Given the description of an element on the screen output the (x, y) to click on. 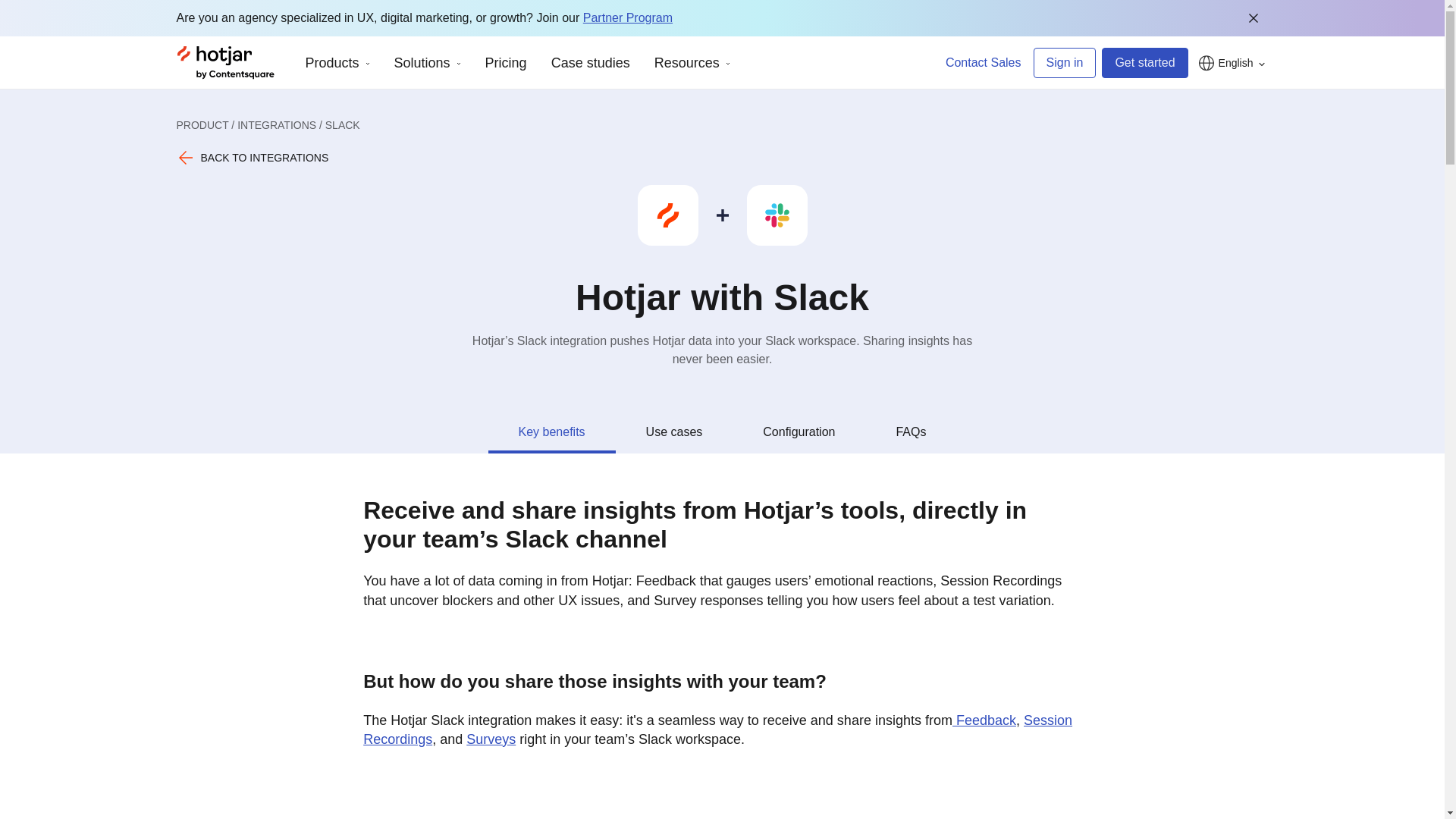
Pricing (505, 62)
English (1230, 62)
Configuration (798, 432)
Sign in (1064, 62)
Surveys (490, 739)
Hotjar Logo (225, 62)
Resources (692, 62)
Contact Sales (983, 62)
BACK TO INTEGRATIONS (252, 157)
Products (336, 62)
